Given the description of an element on the screen output the (x, y) to click on. 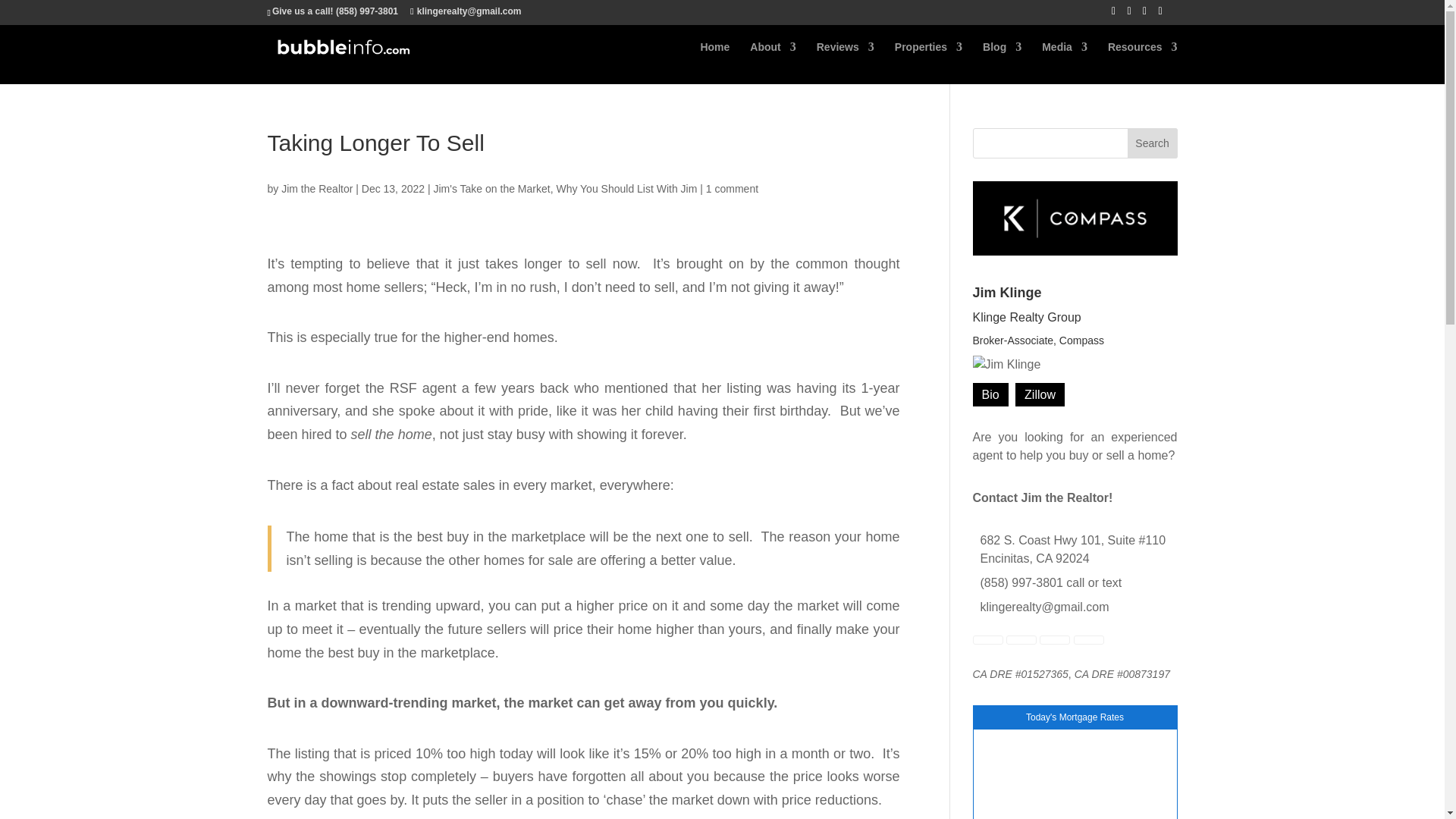
Reviews (845, 56)
About (771, 56)
Home (714, 56)
Media (1064, 56)
Search (1151, 142)
Blog (1002, 56)
Properties (928, 56)
Posts by Jim the Realtor (316, 187)
Resources (1142, 56)
